Given the description of an element on the screen output the (x, y) to click on. 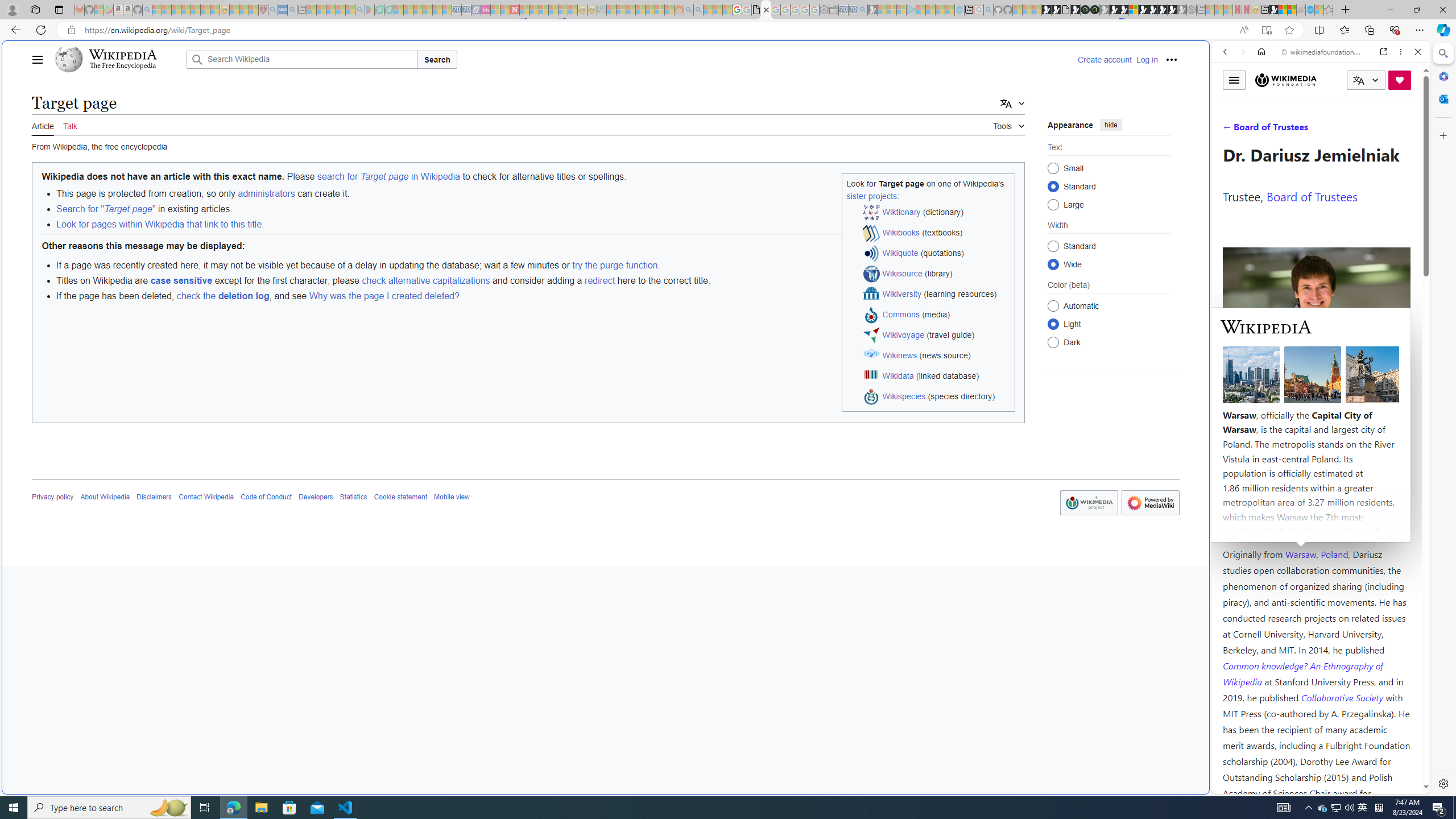
Cookie statement (400, 496)
Robert H. Shmerling, MD - Harvard Health - Sleeping (263, 9)
Recipes - MSN - Sleeping (234, 9)
Search Filter, VIDEOS (1300, 129)
VIDEOS (1300, 130)
try the purge function (615, 264)
Common knowledge? An Ethnography of Wikipedia (1302, 672)
